Given the description of an element on the screen output the (x, y) to click on. 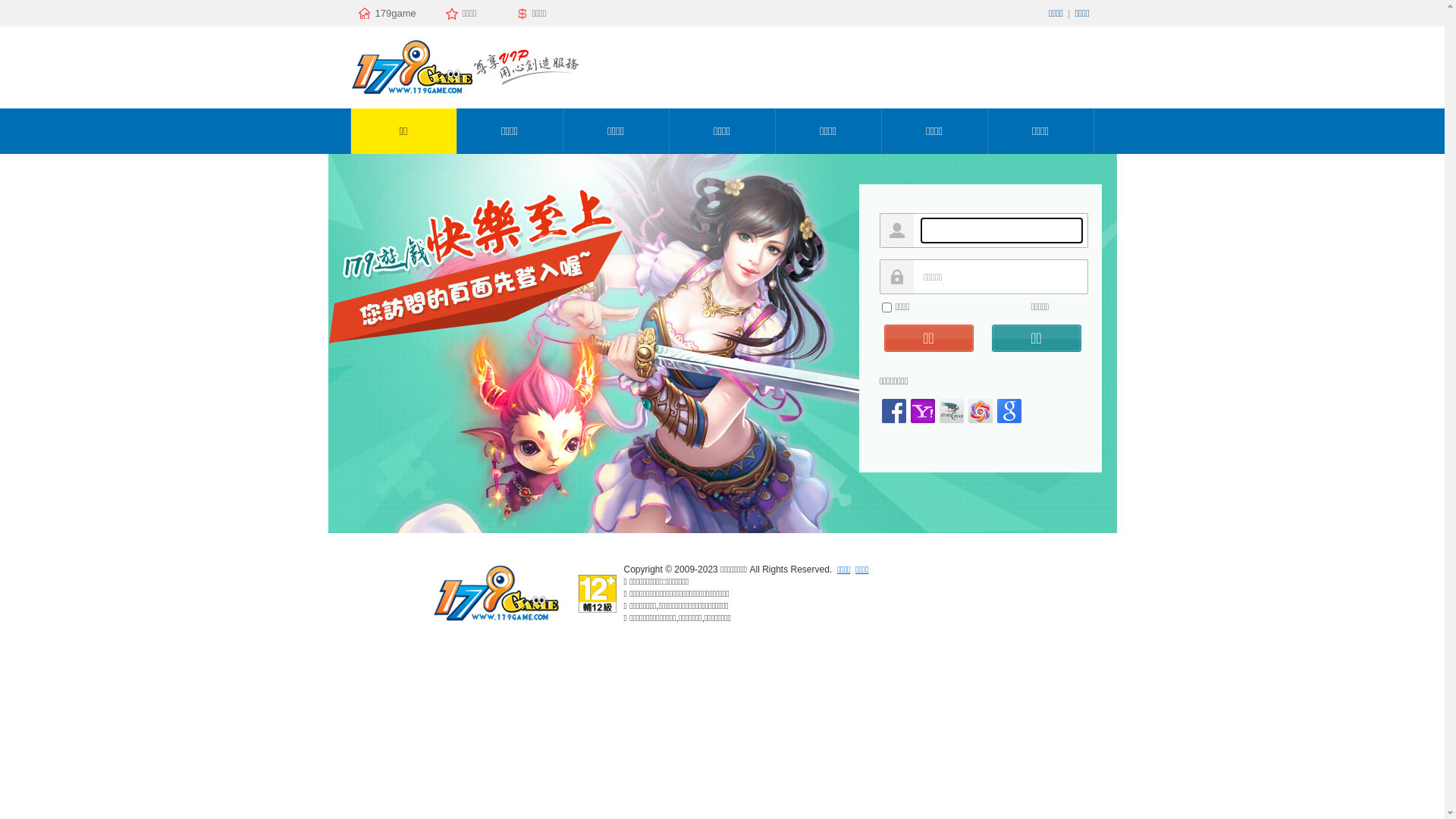
179game Element type: hover (494, 620)
179game Element type: text (393, 13)
